Given the description of an element on the screen output the (x, y) to click on. 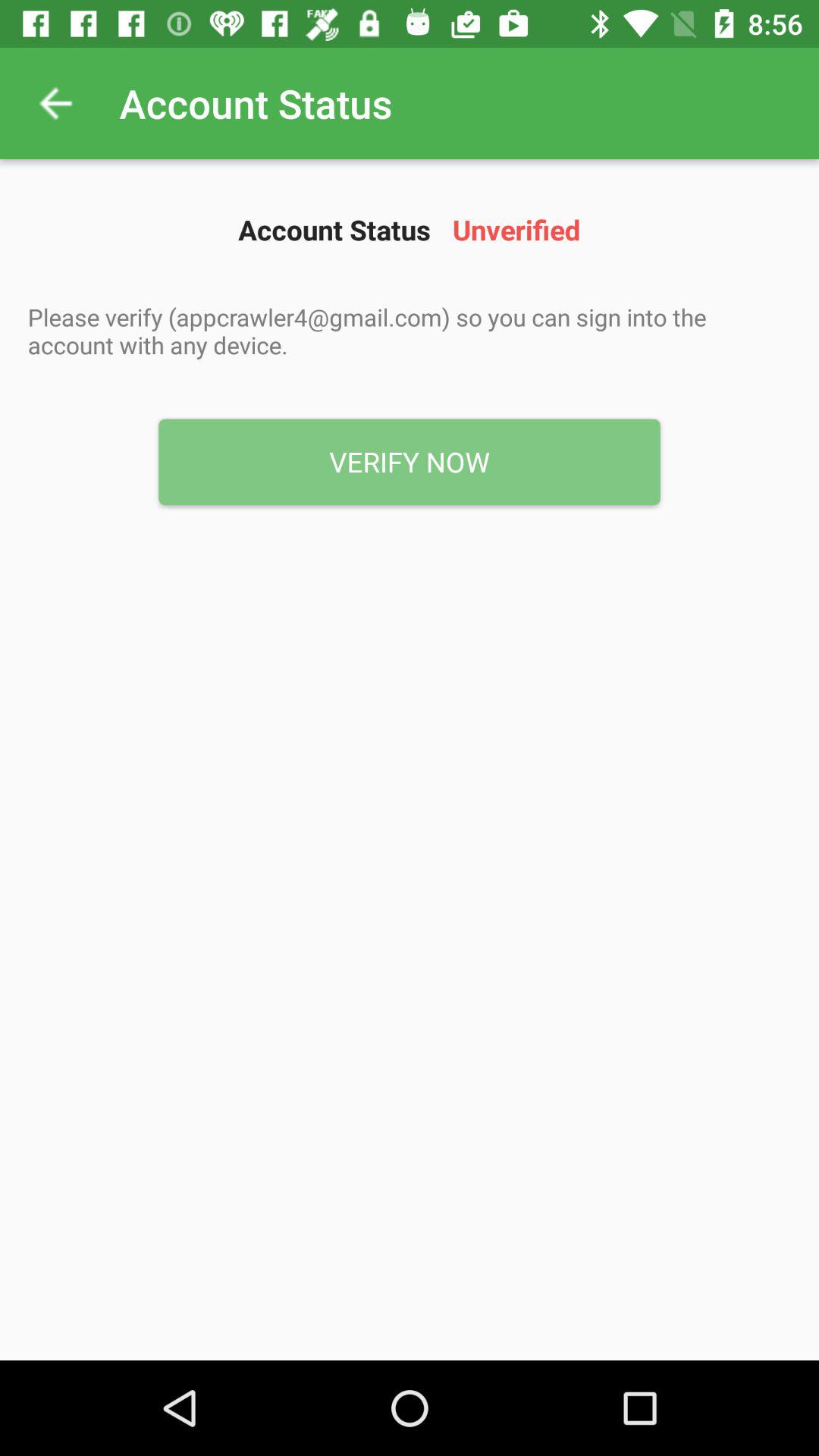
choose icon next to account status icon (55, 103)
